Given the description of an element on the screen output the (x, y) to click on. 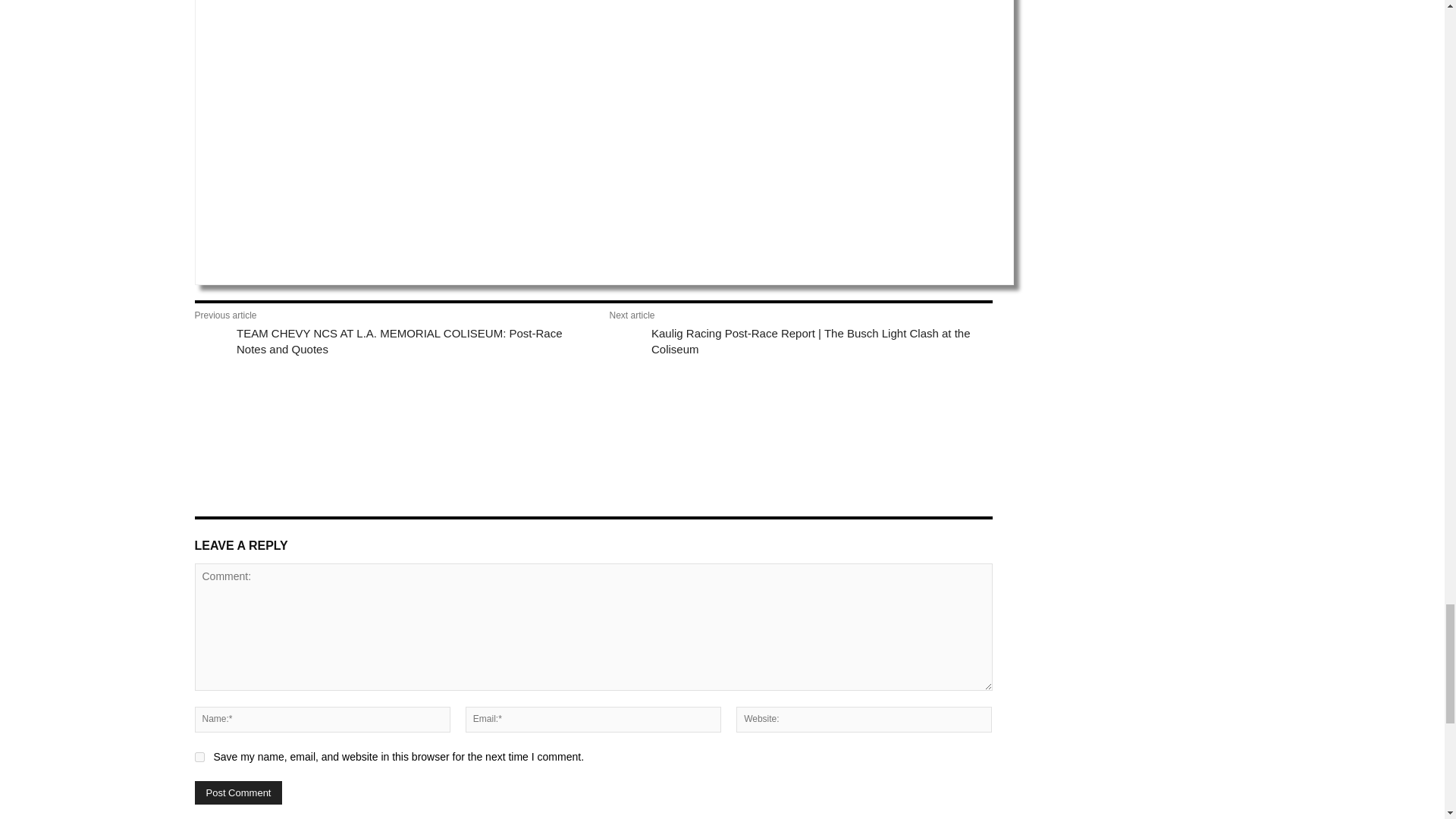
yes (198, 757)
Post Comment (237, 792)
